Given the description of an element on the screen output the (x, y) to click on. 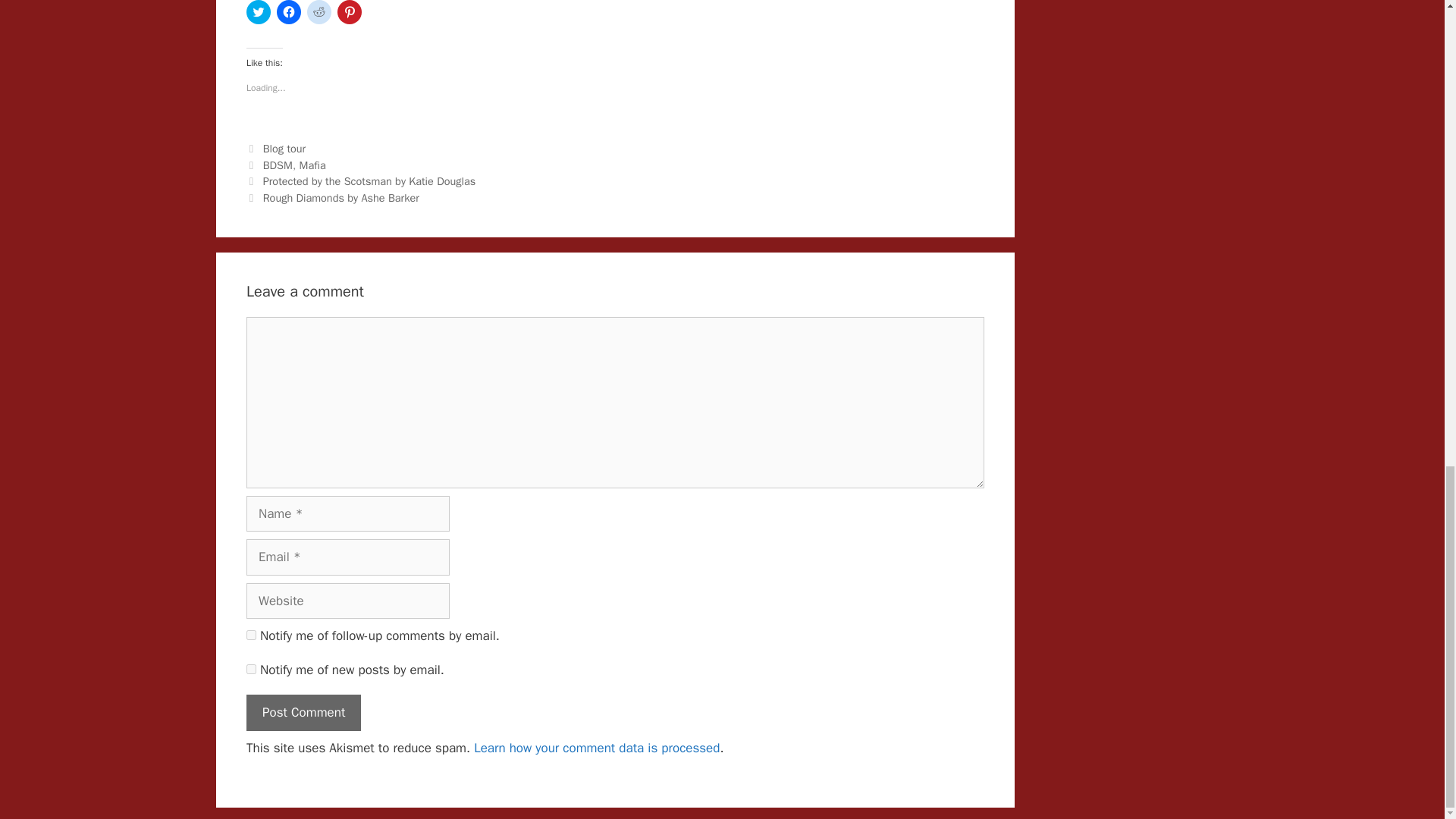
subscribe (251, 669)
subscribe (251, 634)
Previous (361, 181)
Post Comment (303, 712)
Click to share on Twitter (258, 12)
Click to share on Pinterest (349, 12)
Click to share on Facebook (288, 12)
Next (332, 197)
Click to share on Reddit (319, 12)
